Given the description of an element on the screen output the (x, y) to click on. 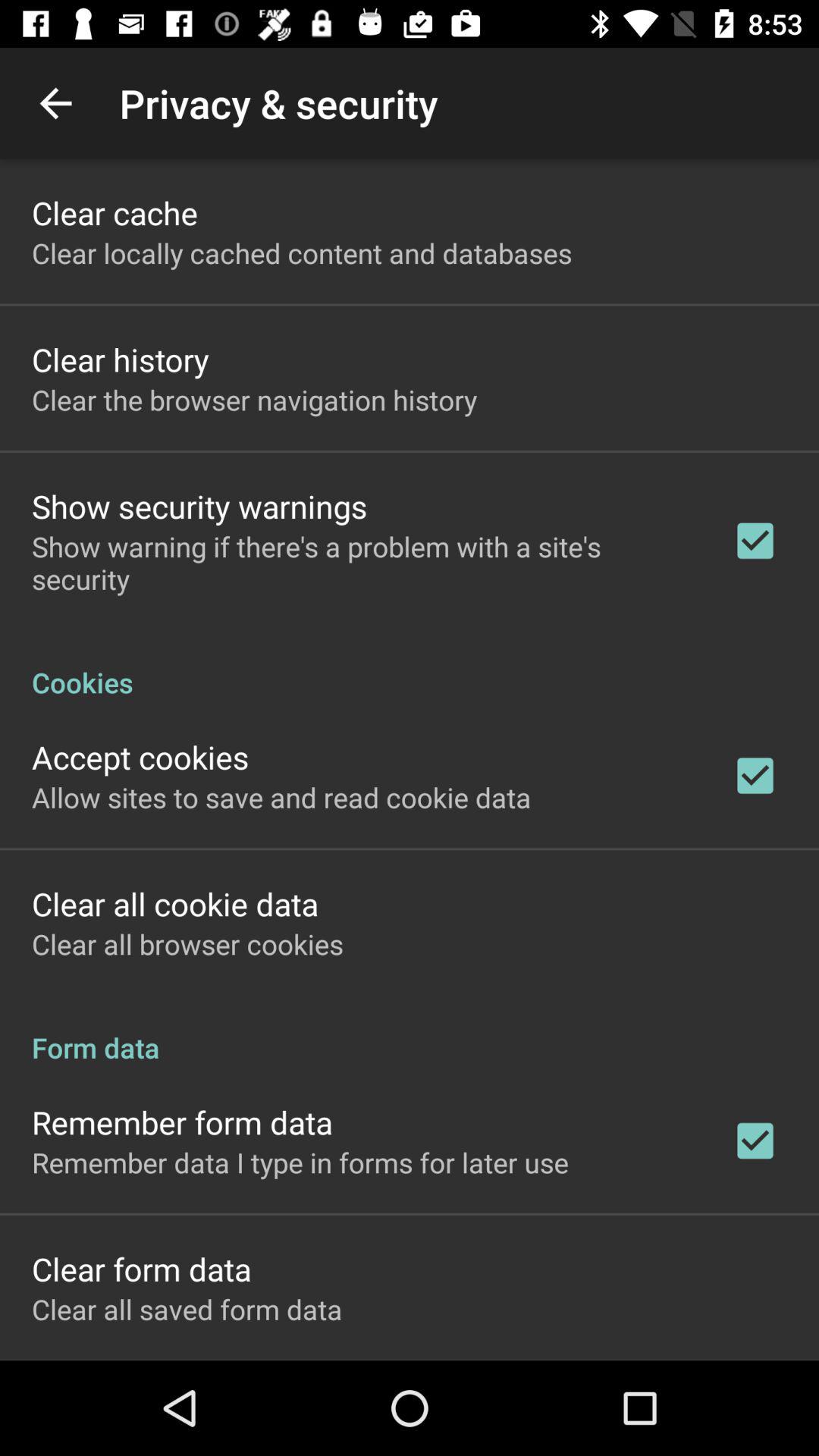
select show warning if item (361, 562)
